Given the description of an element on the screen output the (x, y) to click on. 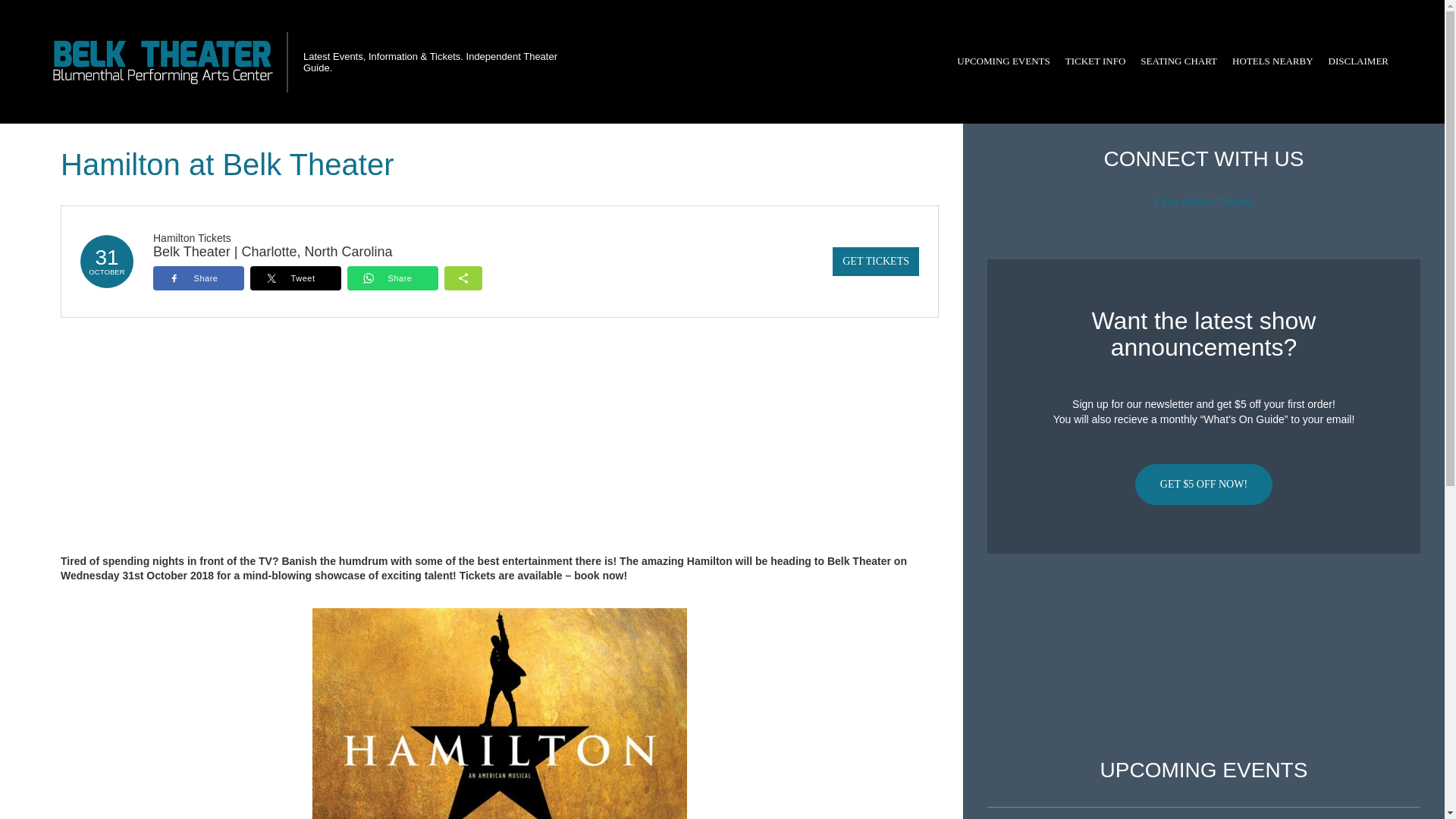
TICKET INFO (1096, 61)
Hamilton Tickets (191, 237)
DISCLAIMER (1358, 61)
Fans of Belk Theater (1203, 202)
Hamilton at Belk Theater (500, 713)
SEATING CHART (1178, 61)
HOTELS NEARBY (1272, 61)
Advertisement (1204, 655)
GET TICKETS (875, 261)
UPCOMING EVENTS (1003, 61)
